Given the description of an element on the screen output the (x, y) to click on. 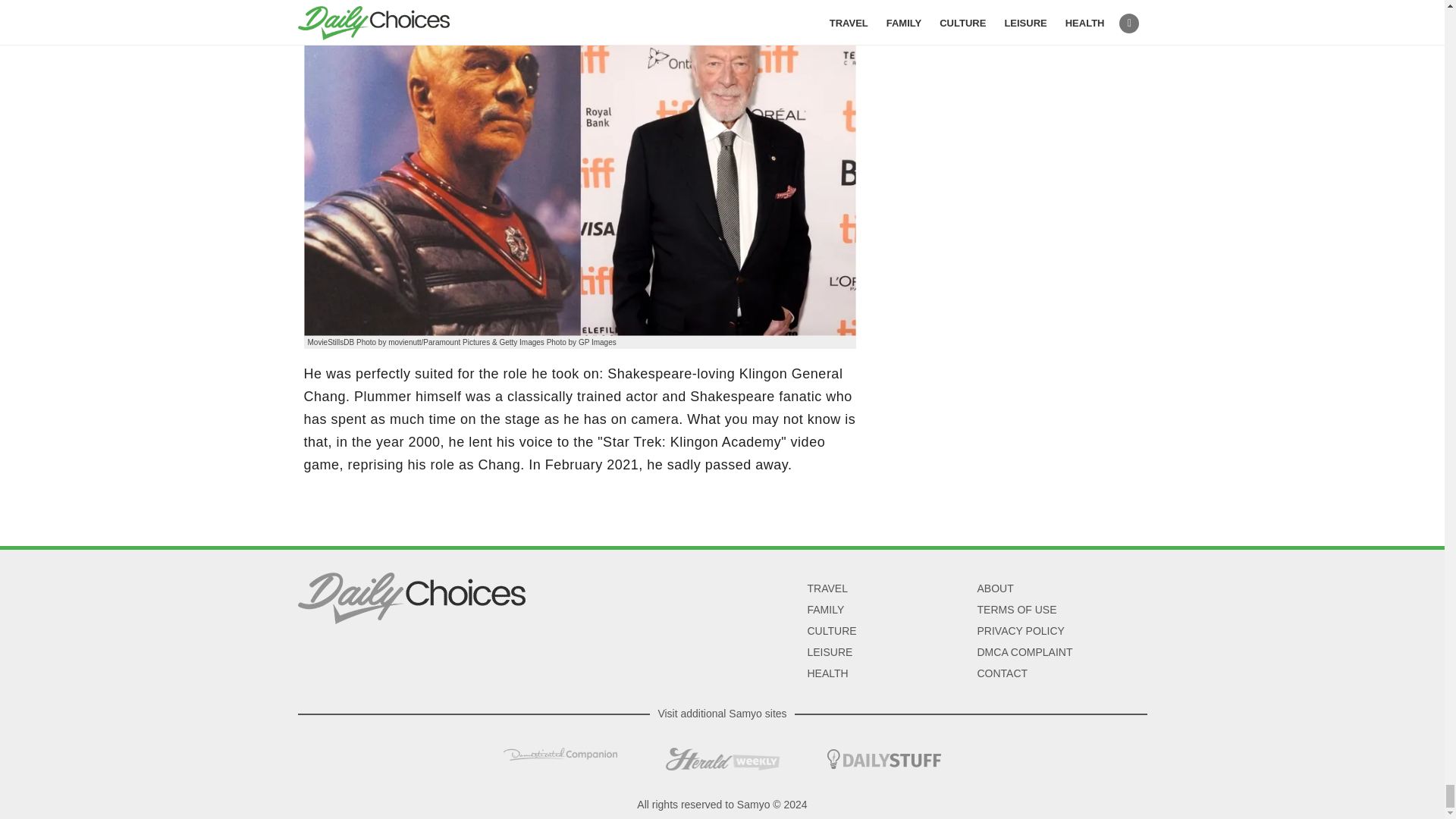
TERMS OF USE (1016, 609)
FAMILY (825, 609)
HEALTH (826, 673)
ABOUT (994, 588)
DMCA COMPLAINT (1023, 652)
CONTACT (1001, 673)
LEISURE (828, 652)
CULTURE (831, 630)
TRAVEL (826, 588)
PRIVACY POLICY (1020, 630)
